Given the description of an element on the screen output the (x, y) to click on. 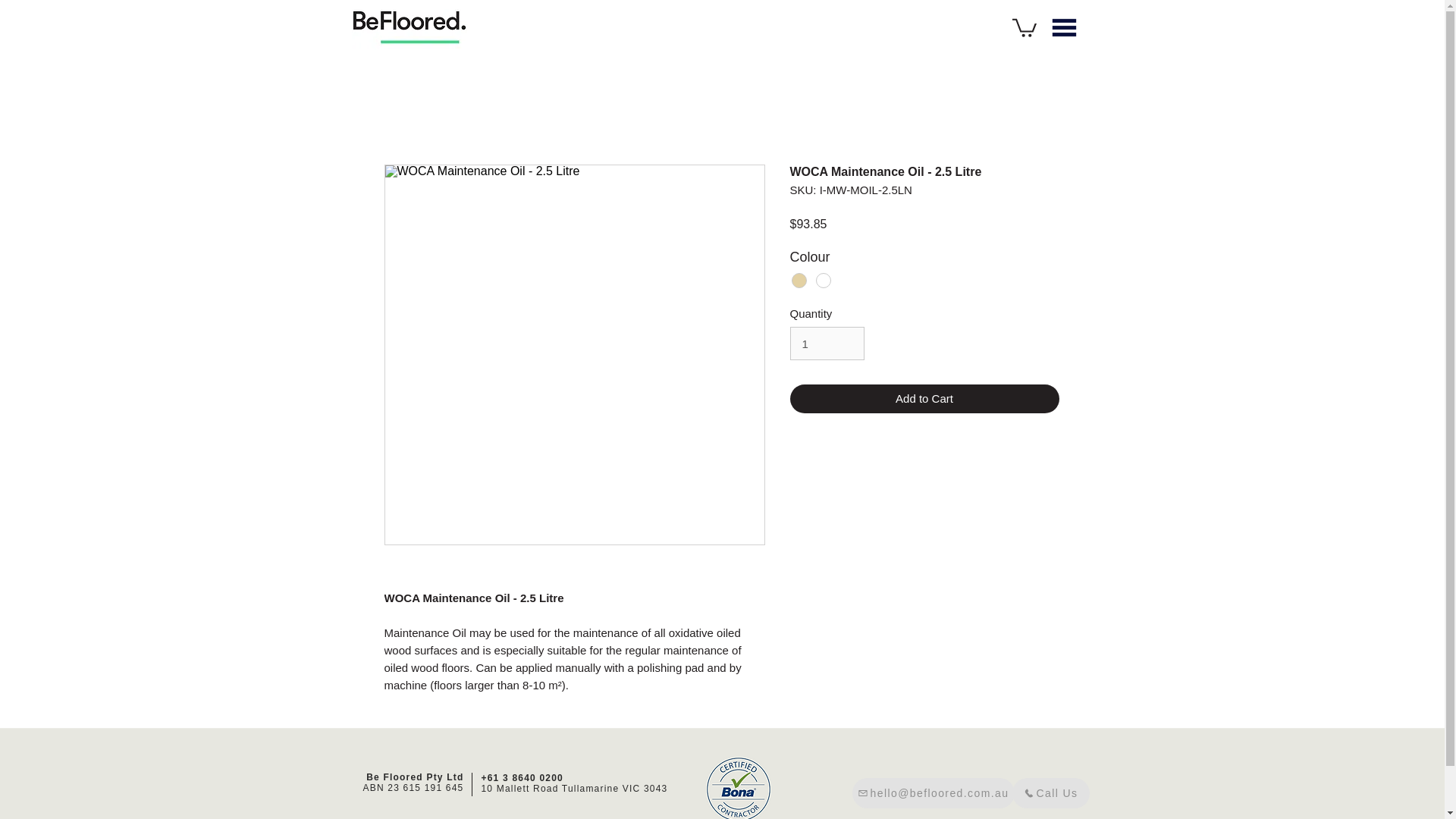
1 (827, 343)
Call Us (1050, 793)
Add to Cart (924, 399)
